Given the description of an element on the screen output the (x, y) to click on. 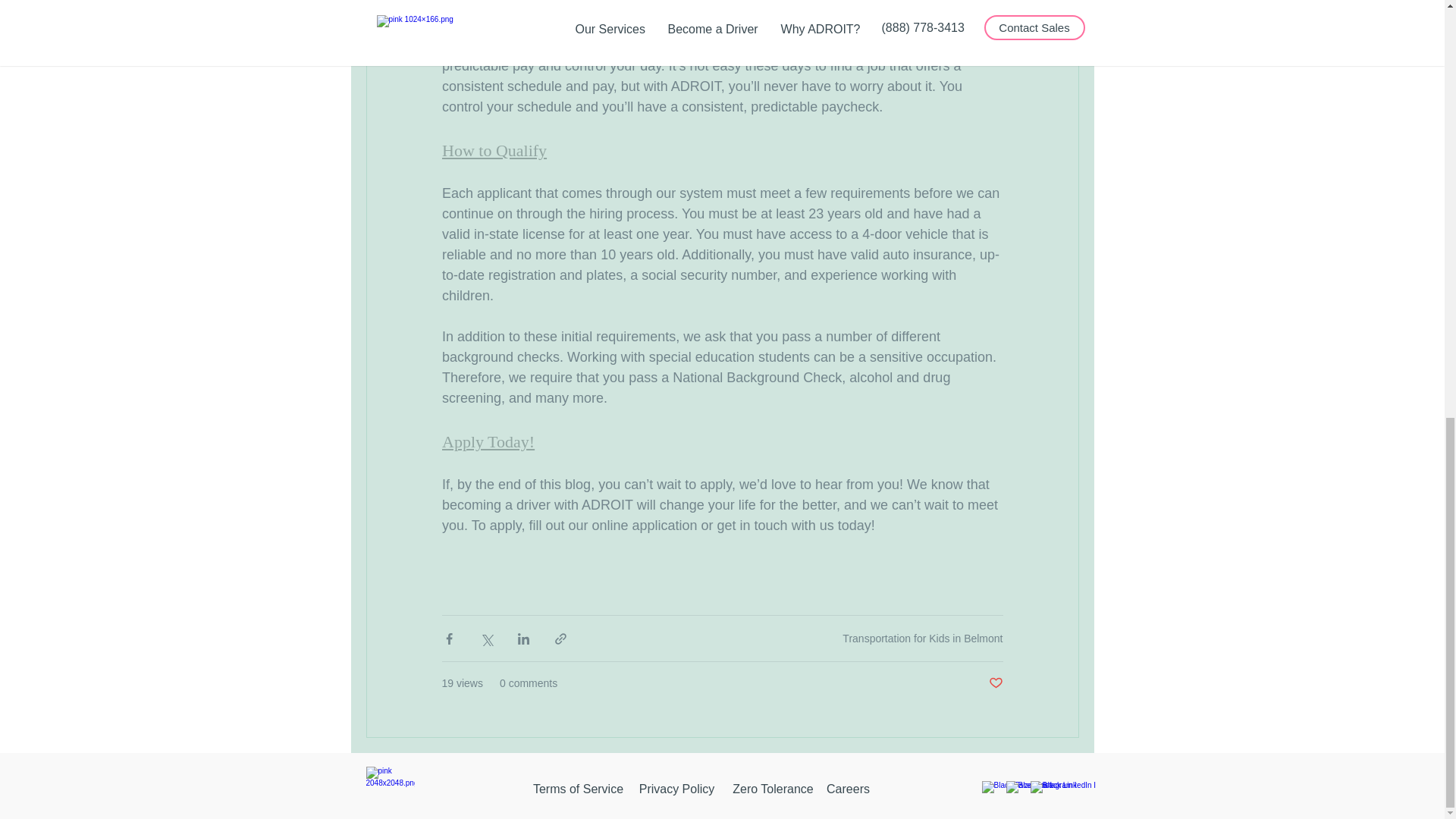
Careers (848, 789)
Zero Tolerance (773, 789)
How to Qualify (493, 149)
Transportation for Kids in Belmont (923, 637)
Apply Today! (487, 441)
Post not marked as liked (995, 683)
Terms of Service (578, 789)
Privacy Policy (676, 789)
